Given the description of an element on the screen output the (x, y) to click on. 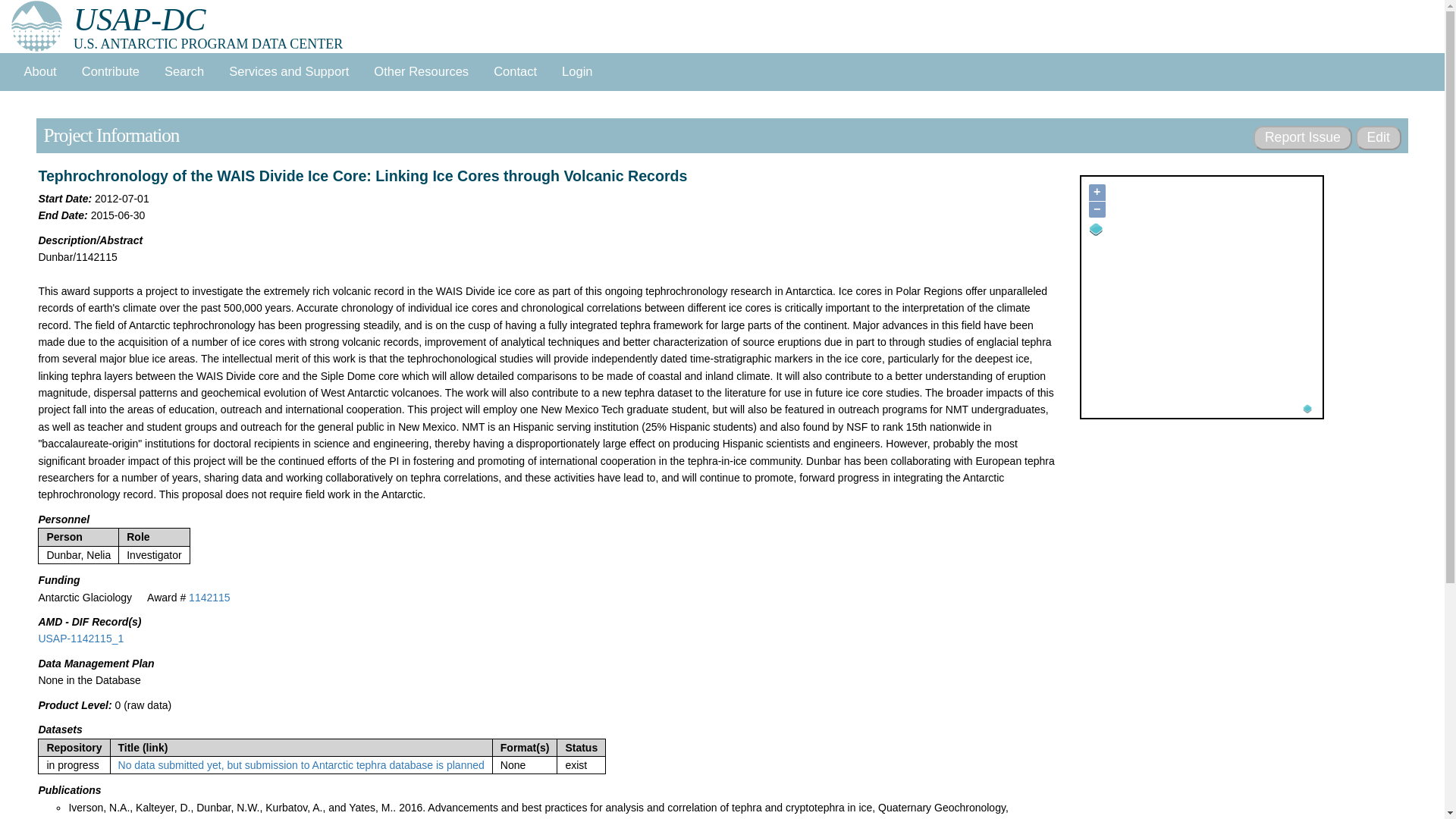
Other Resources (421, 71)
Contribute (109, 71)
U.S. ANTARCTIC PROGRAM DATA CENTER (139, 19)
1142115 (209, 597)
USAP-DC (139, 19)
Report Issue (1302, 137)
Zoom in (1097, 192)
Search (183, 71)
Contact (515, 71)
About (39, 71)
